Given the description of an element on the screen output the (x, y) to click on. 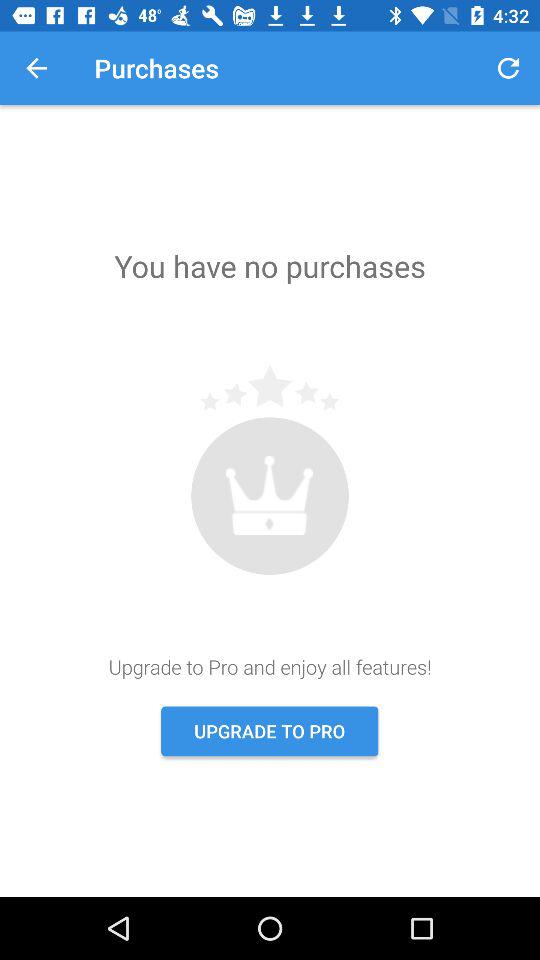
select the item at the top right corner (508, 67)
